Given the description of an element on the screen output the (x, y) to click on. 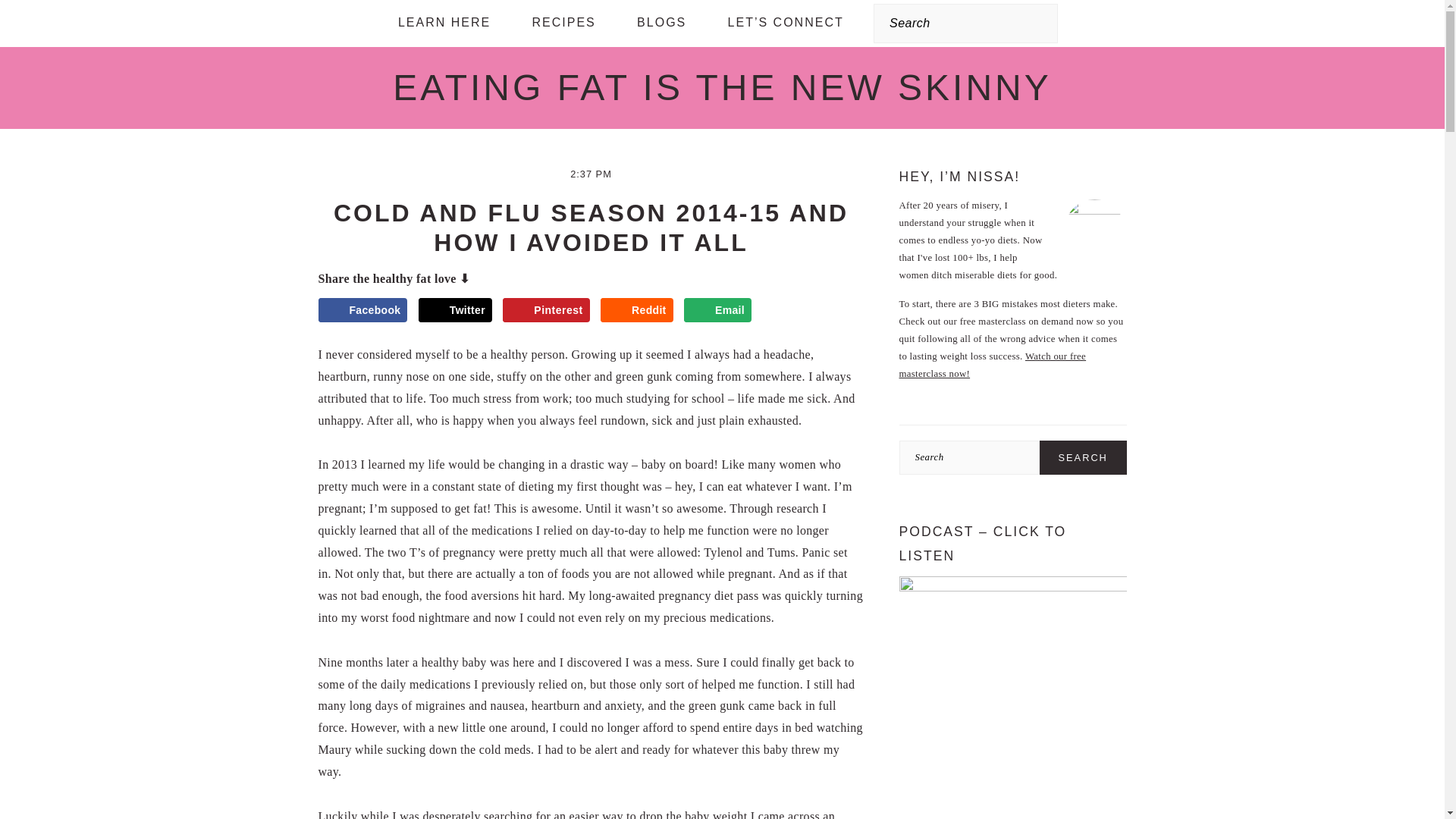
Search (1082, 457)
Share on X (455, 310)
Save to Pinterest (545, 310)
Share on Reddit (635, 310)
Pinterest (545, 310)
Email (717, 310)
BLOGS (660, 22)
Reddit (635, 310)
Search (275, 19)
